Given the description of an element on the screen output the (x, y) to click on. 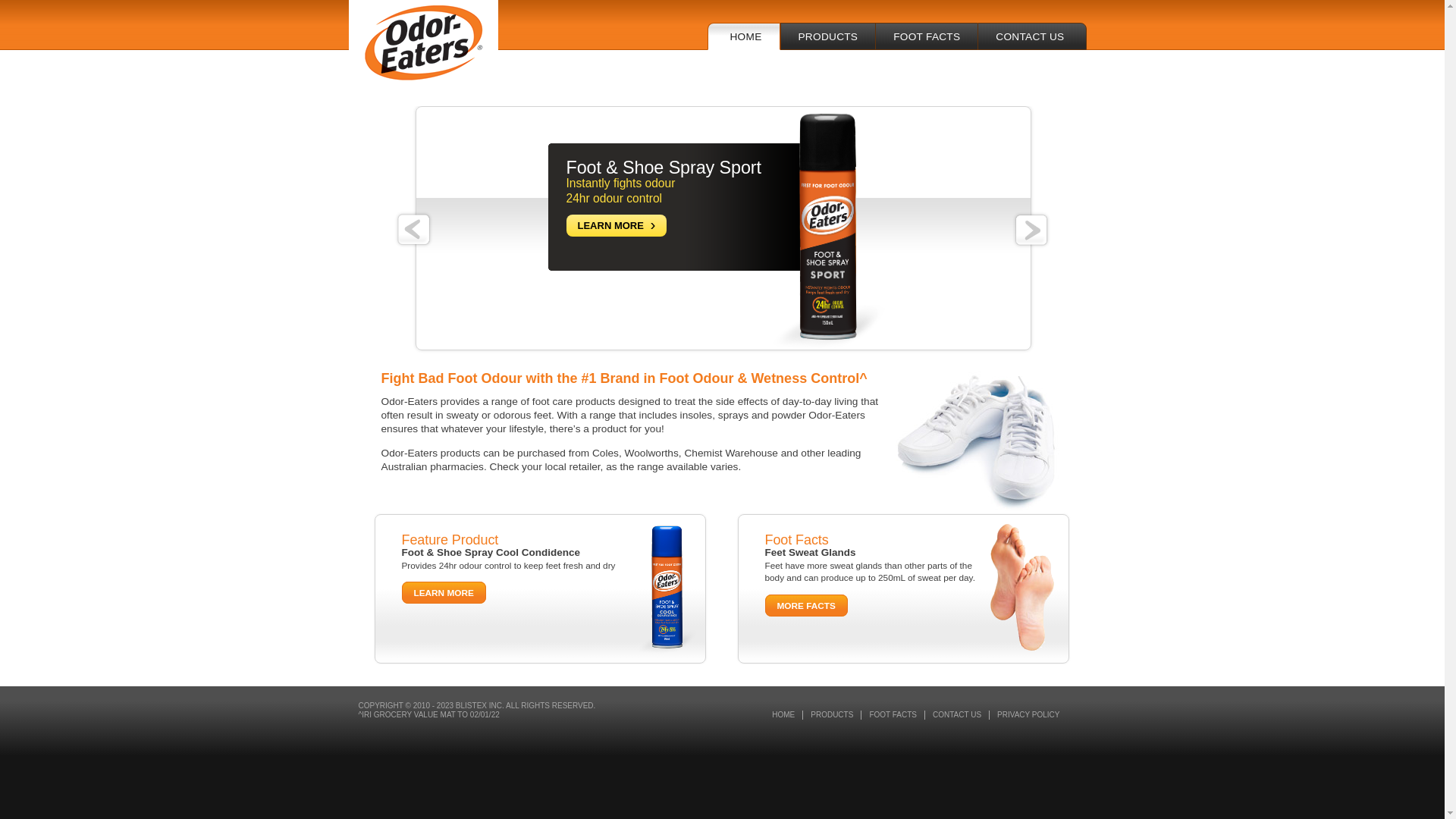
PRODUCTS Element type: text (827, 36)
CONTACT US Element type: text (957, 714)
HOME Element type: text (743, 36)
CONTACT US Element type: text (1031, 36)
FOOT FACTS Element type: text (893, 714)
HOME Element type: text (783, 714)
MORE FACTS Element type: text (805, 605)
FOOT FACTS Element type: text (926, 36)
Odor-Eaters Element type: text (423, 42)
LEARN MORE Element type: text (443, 592)
PRODUCTS Element type: text (832, 714)
PRIVACY POLICY Element type: text (1027, 714)
